Given the description of an element on the screen output the (x, y) to click on. 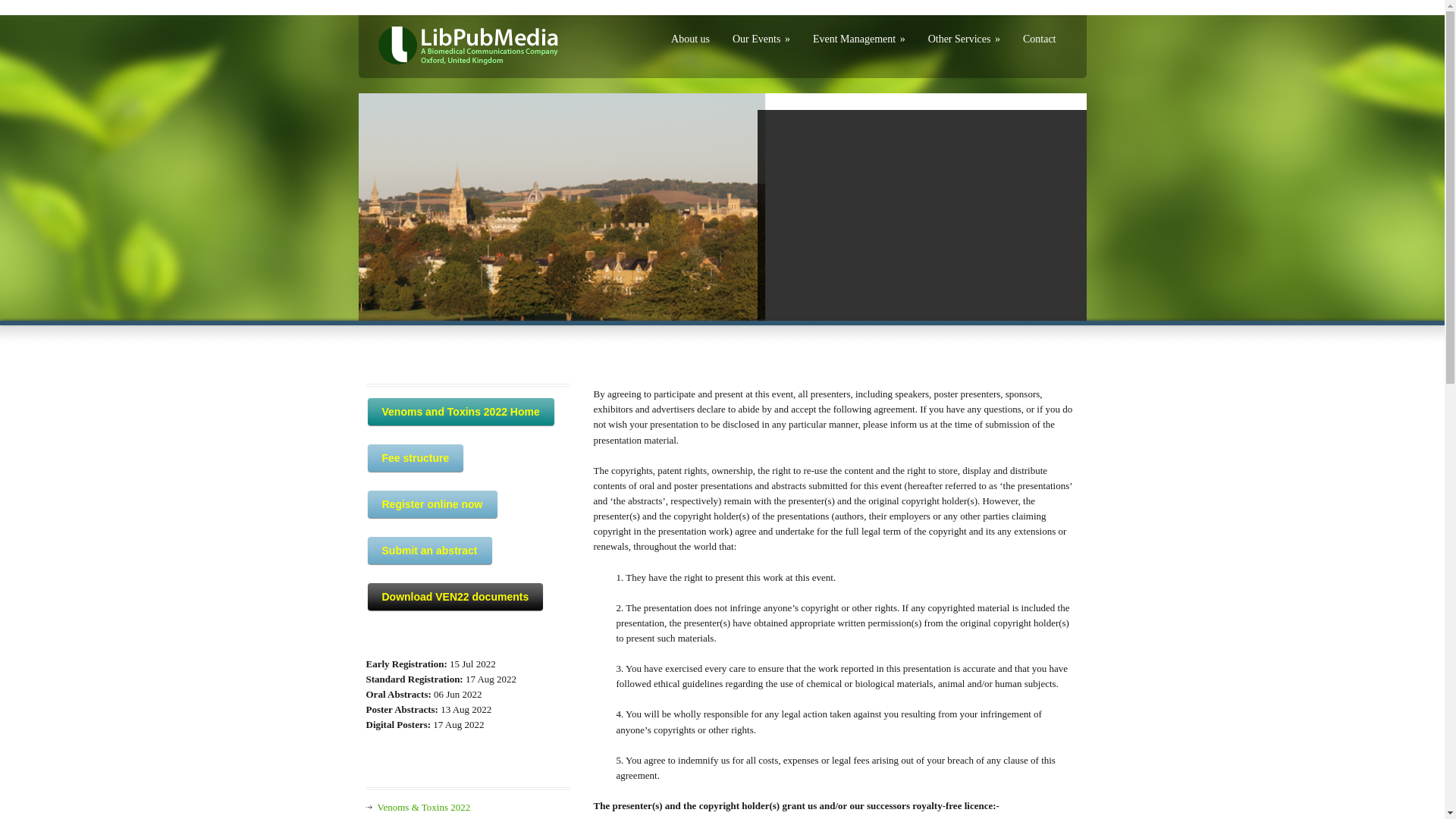
About us (689, 39)
